Given the description of an element on the screen output the (x, y) to click on. 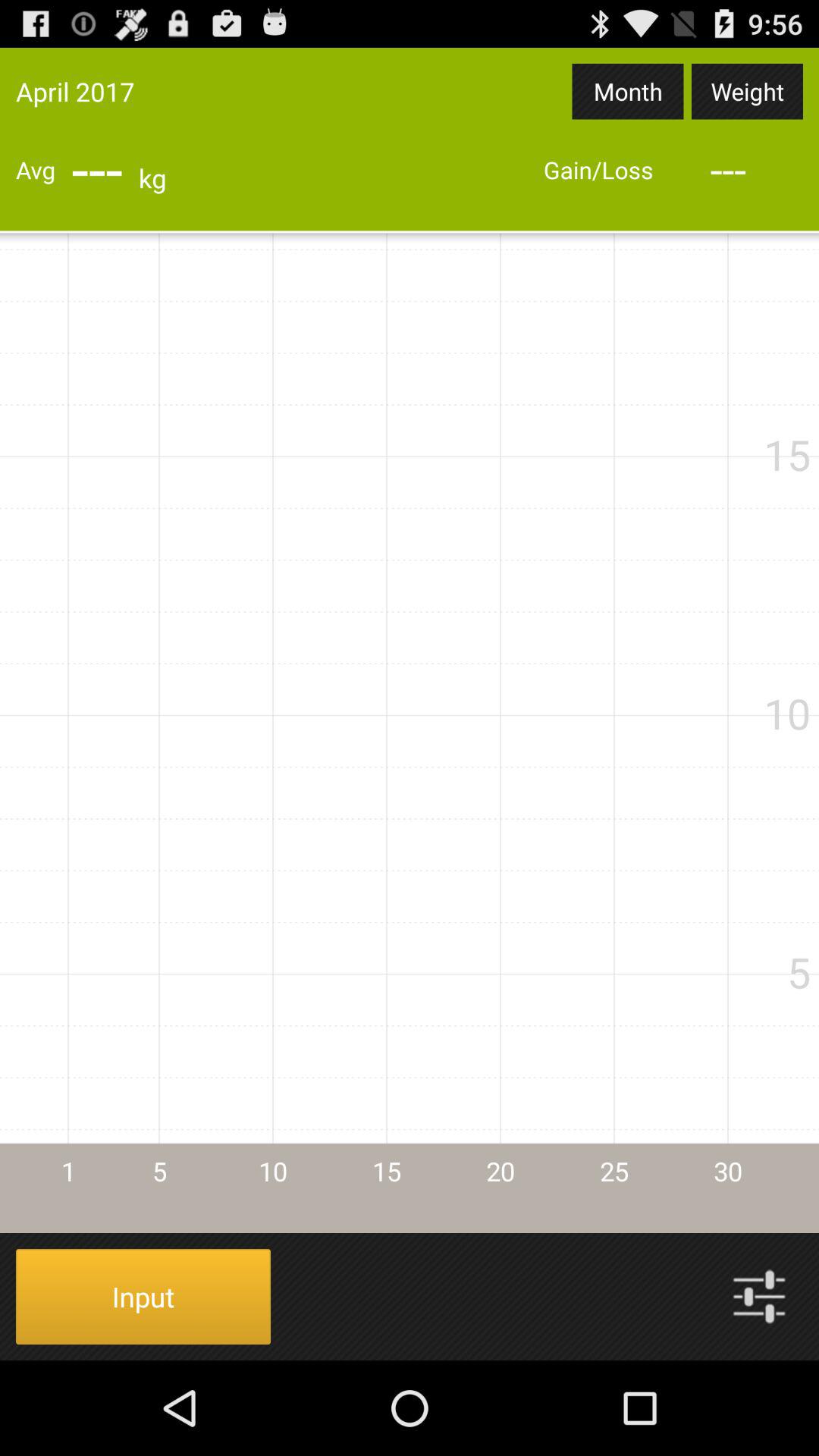
scroll to the weight (747, 91)
